Given the description of an element on the screen output the (x, y) to click on. 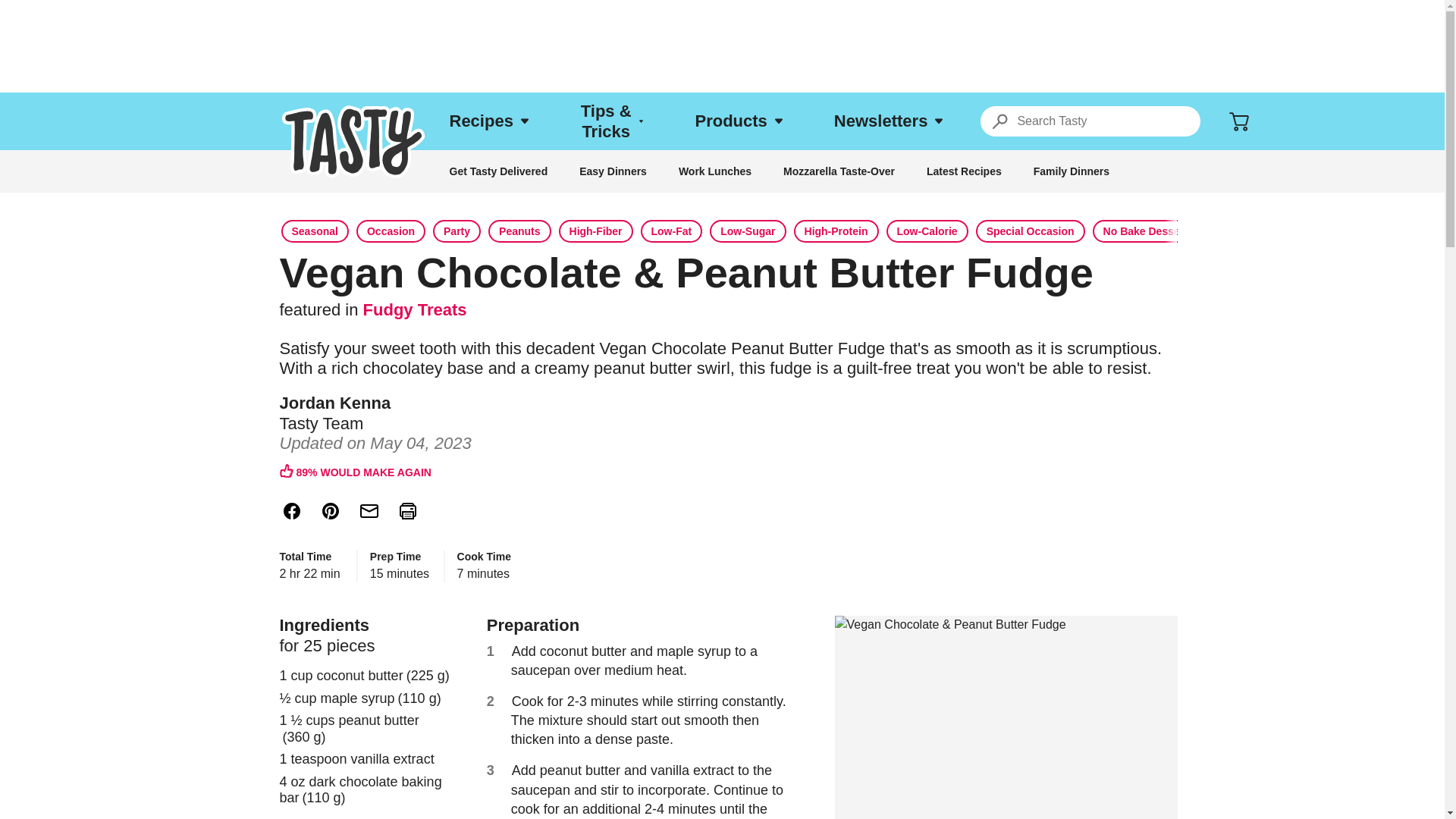
Products (738, 121)
Recipes (488, 121)
Newsletters (887, 121)
